Given the description of an element on the screen output the (x, y) to click on. 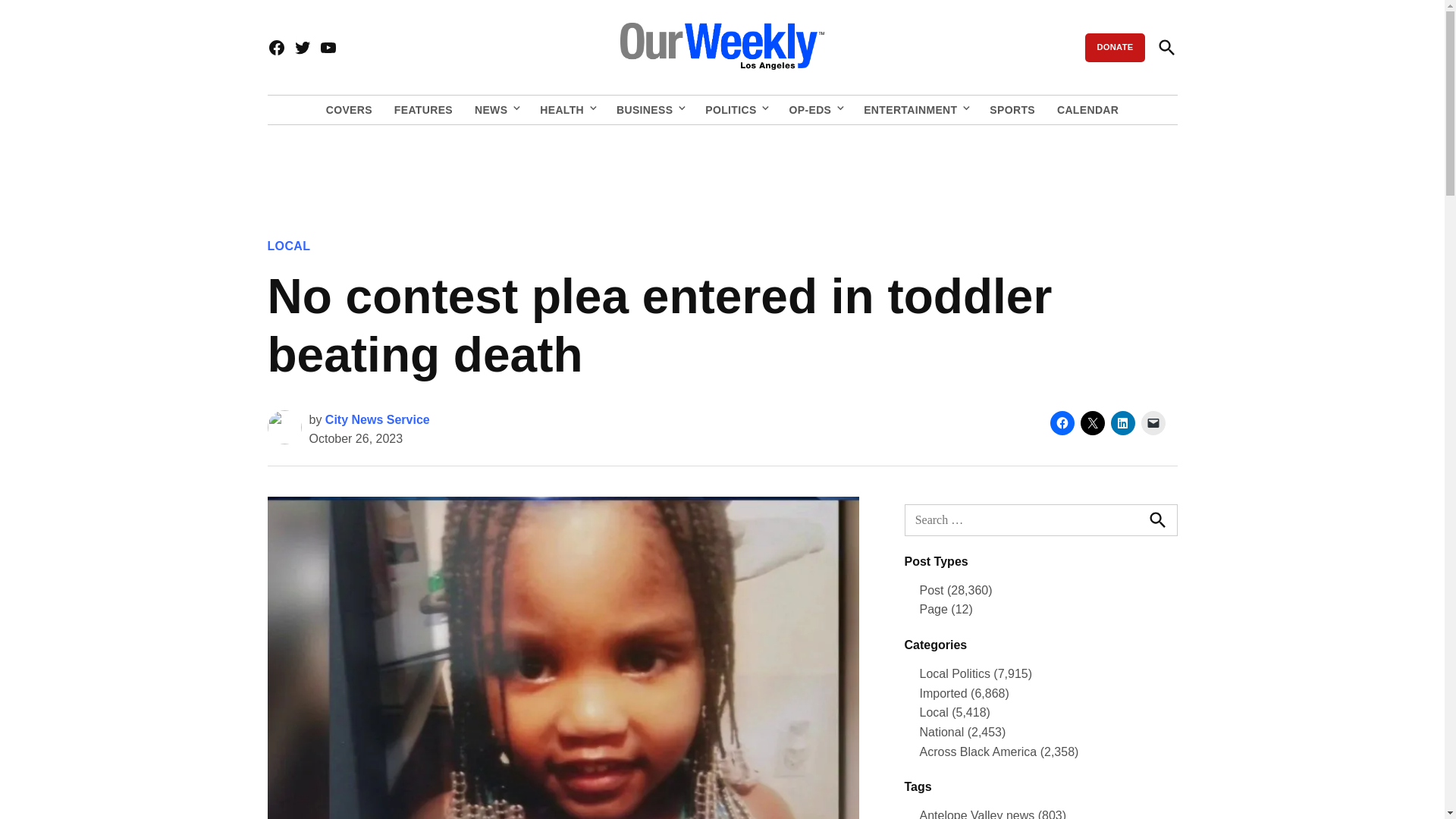
Click to share on X (1091, 422)
Click to share on Facebook (1061, 422)
3rd party ad content (721, 171)
Click to share on LinkedIn (1121, 422)
Click to email a link to a friend (1152, 422)
